Given the description of an element on the screen output the (x, y) to click on. 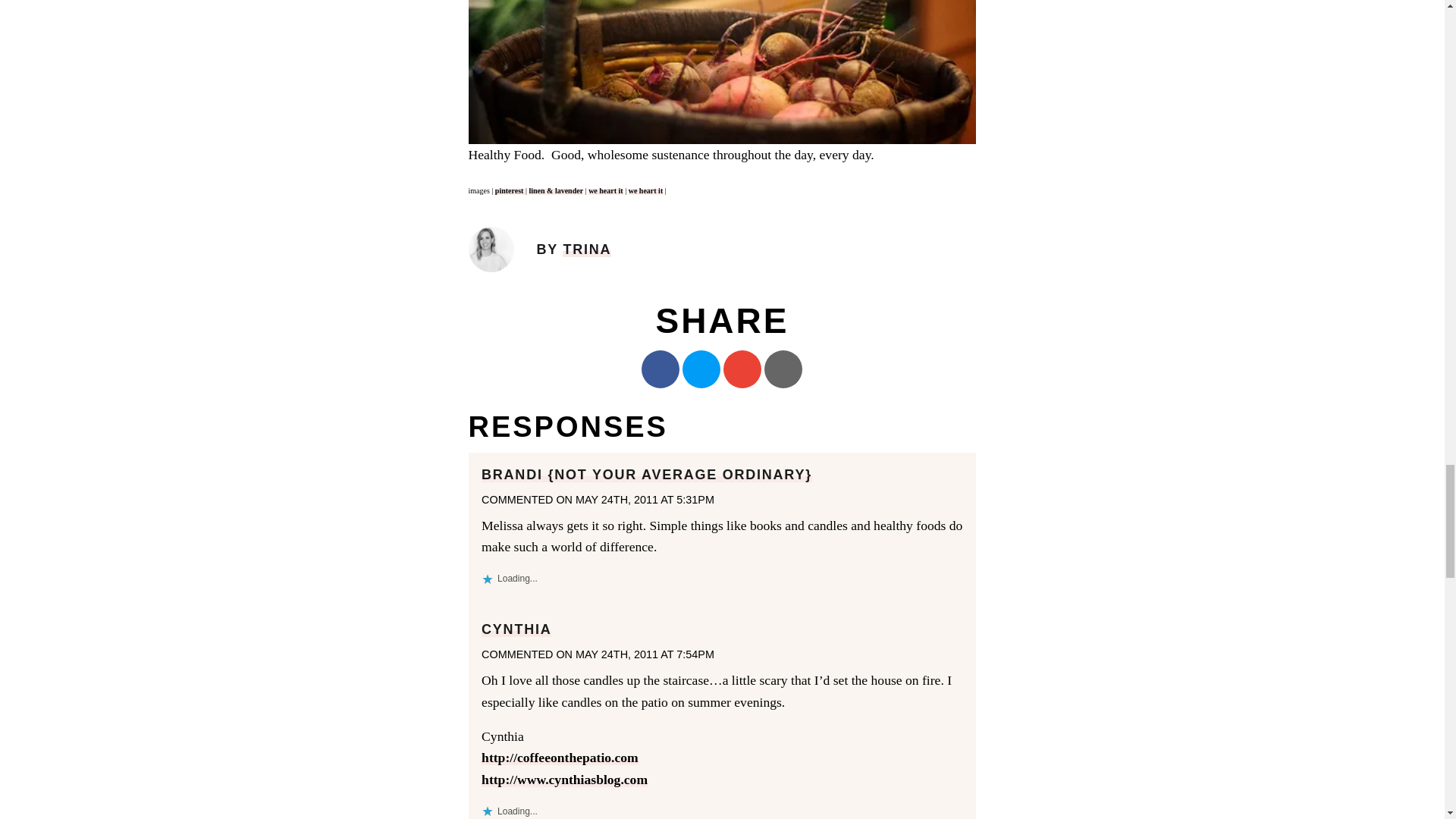
lalalovely image 5 (722, 72)
Posts by Trina (586, 249)
